Given the description of an element on the screen output the (x, y) to click on. 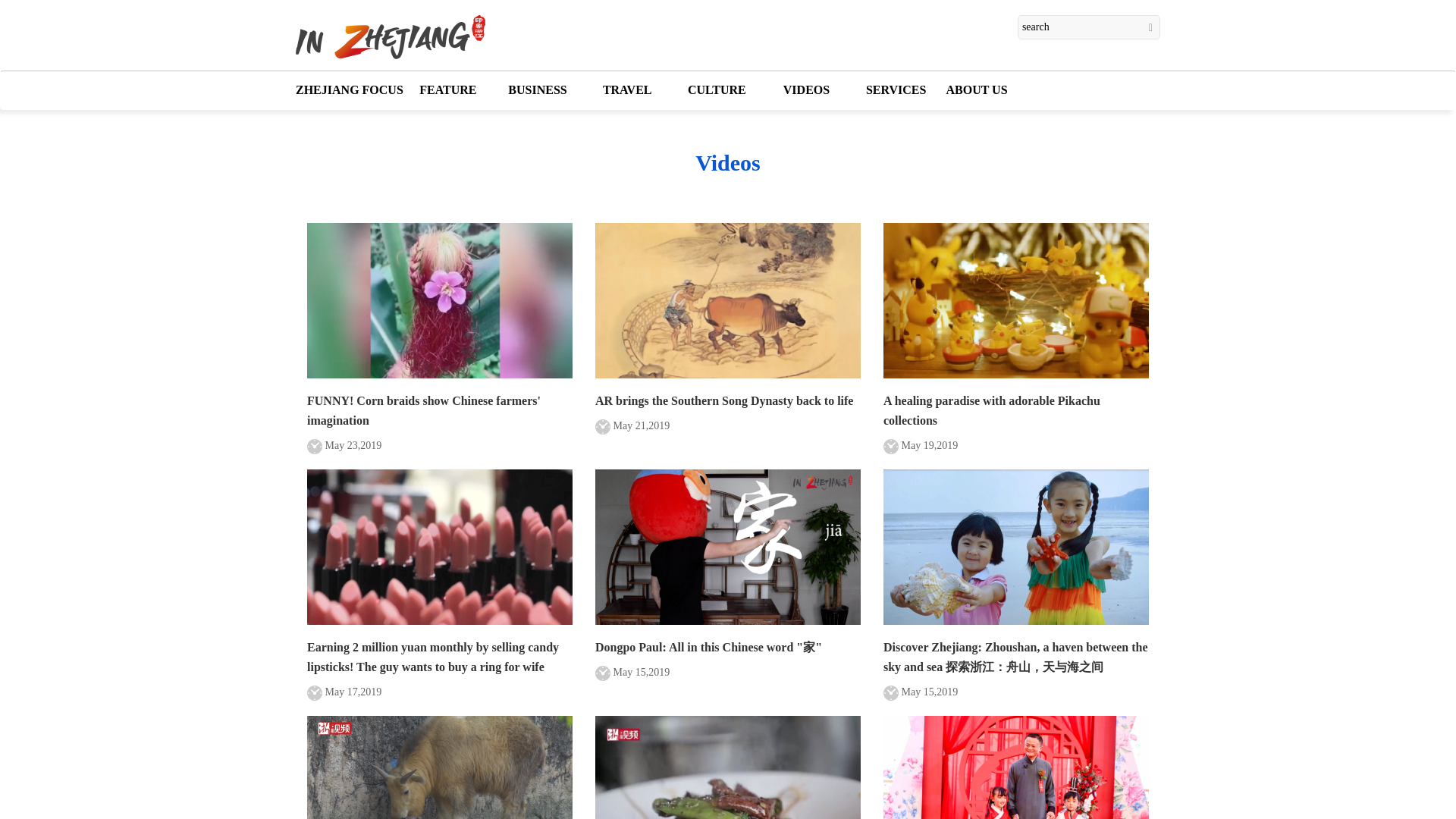
TRAVEL (626, 89)
ABOUT US (976, 89)
CULTURE (716, 89)
search (1088, 27)
VIDEOS (805, 89)
SERVICES (895, 89)
search (1088, 27)
ZHEJIANG FOCUS (349, 89)
FEATURE (448, 89)
BUSINESS (537, 89)
